Given the description of an element on the screen output the (x, y) to click on. 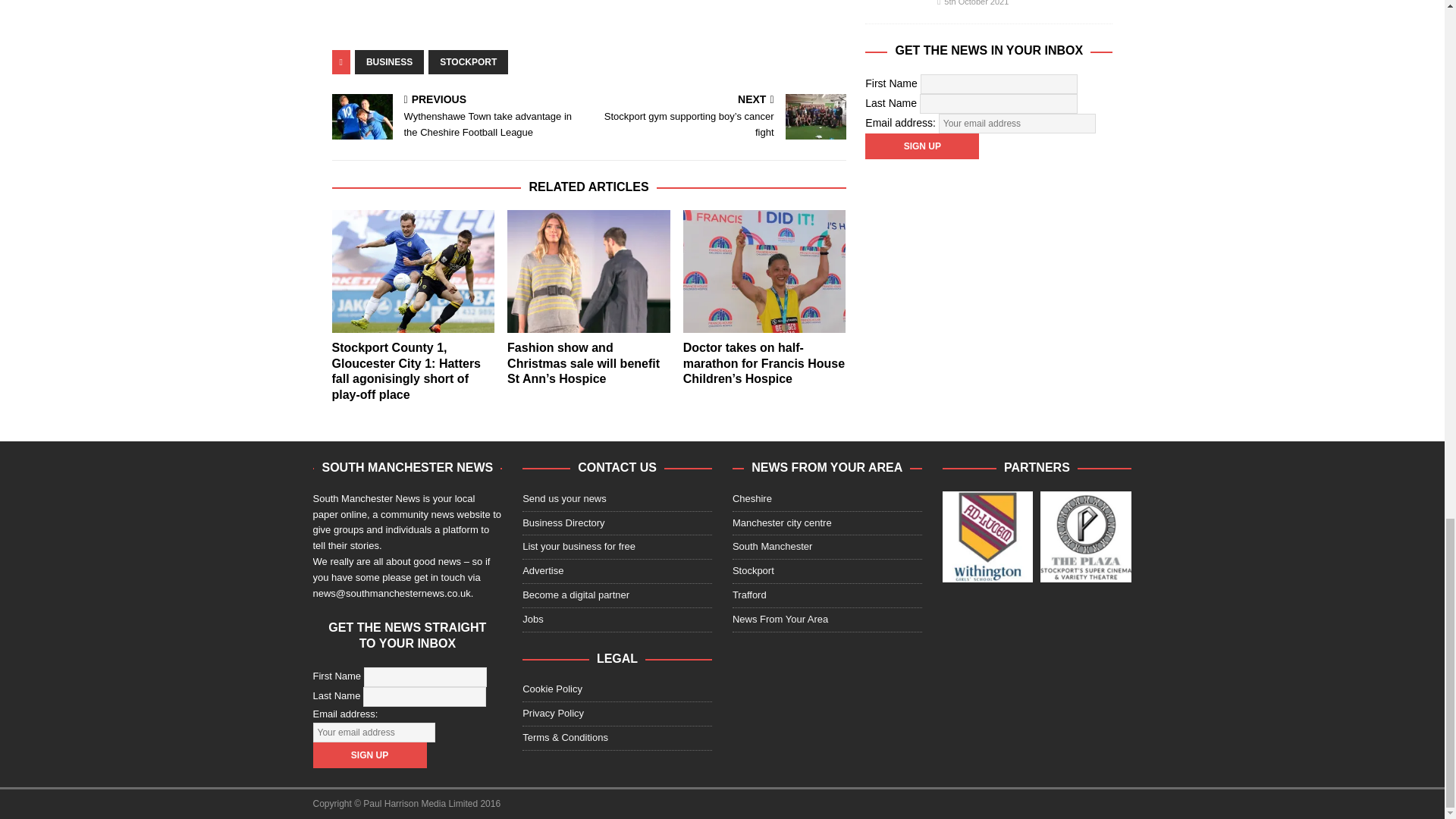
Sign up (921, 145)
Sign up (369, 755)
